Given the description of an element on the screen output the (x, y) to click on. 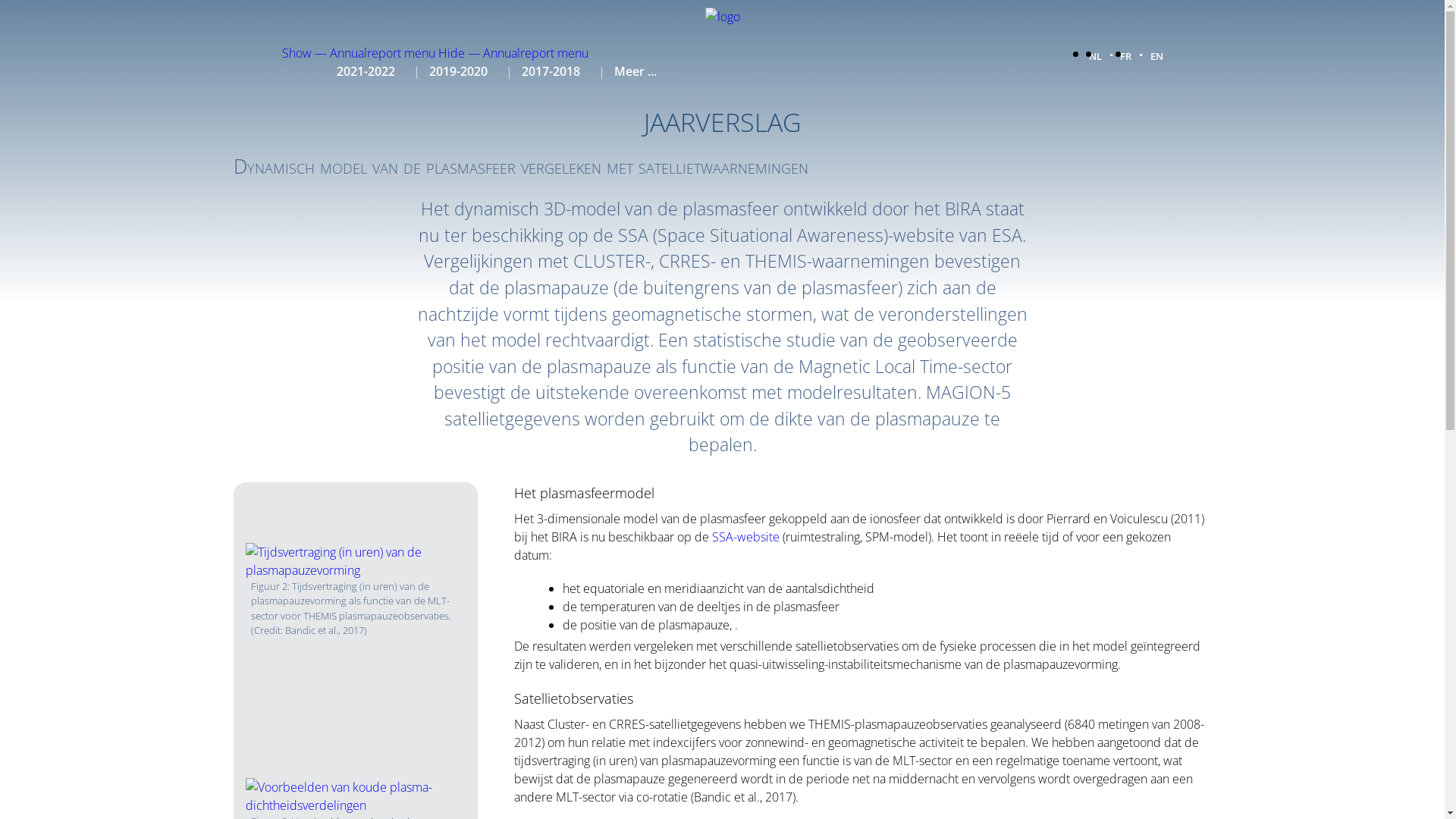
2019-2020 Element type: text (458, 70)
en Element type: text (1155, 53)
2021-2022 Element type: text (365, 70)
nl Element type: text (1094, 53)
fr Element type: text (1125, 53)
2017-2018 Element type: text (550, 70)
Meer ... Element type: text (635, 70)
SSA-website Element type: text (745, 536)
Skip to main content Element type: text (0, 0)
